Given the description of an element on the screen output the (x, y) to click on. 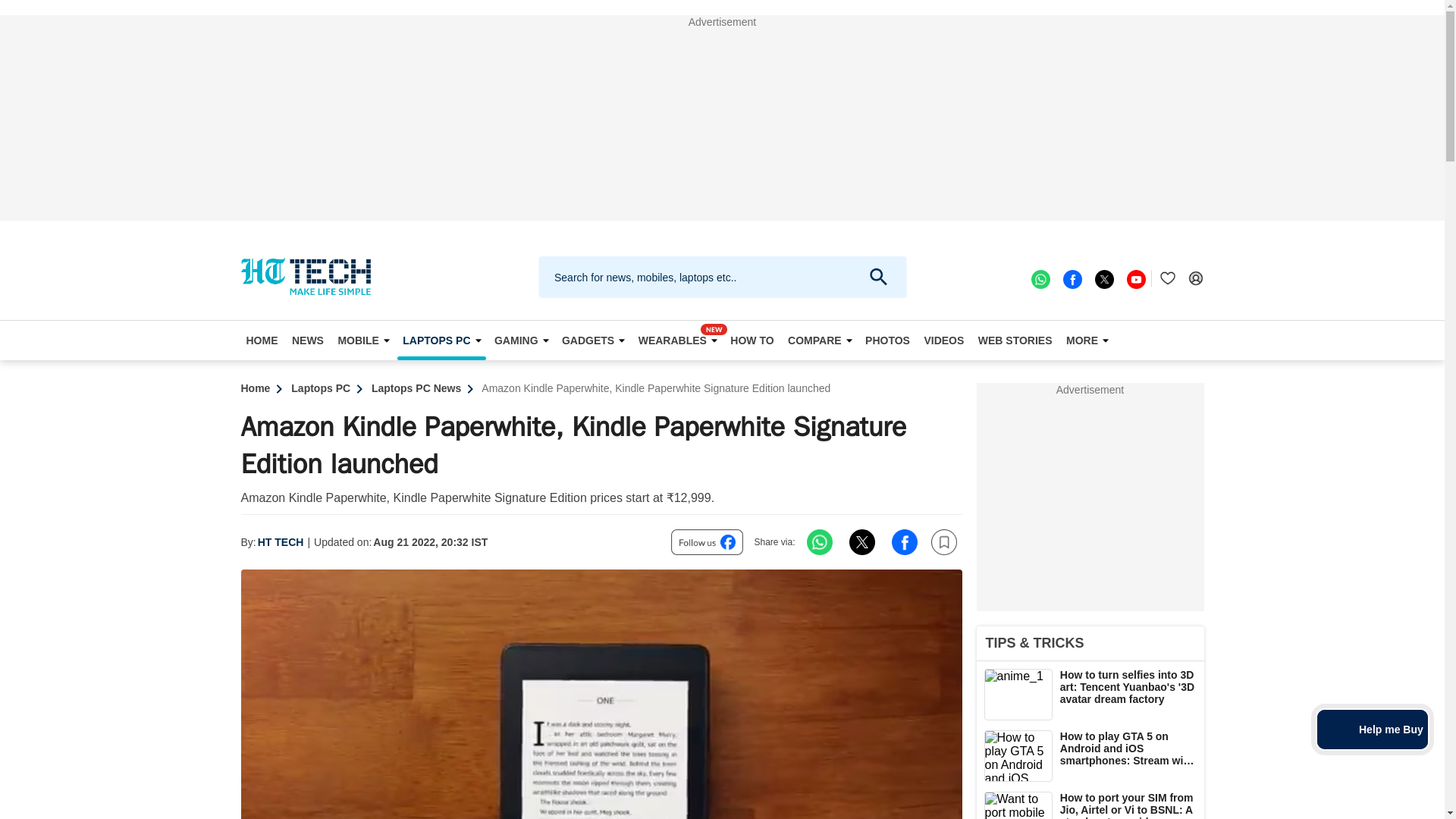
HOW TO (751, 340)
COMPARE (820, 340)
NEWS (307, 340)
youtube (1134, 278)
HOME (262, 340)
facebook (1071, 278)
Get to know more about News from India and around the world. (307, 340)
GAMING (521, 340)
